Given the description of an element on the screen output the (x, y) to click on. 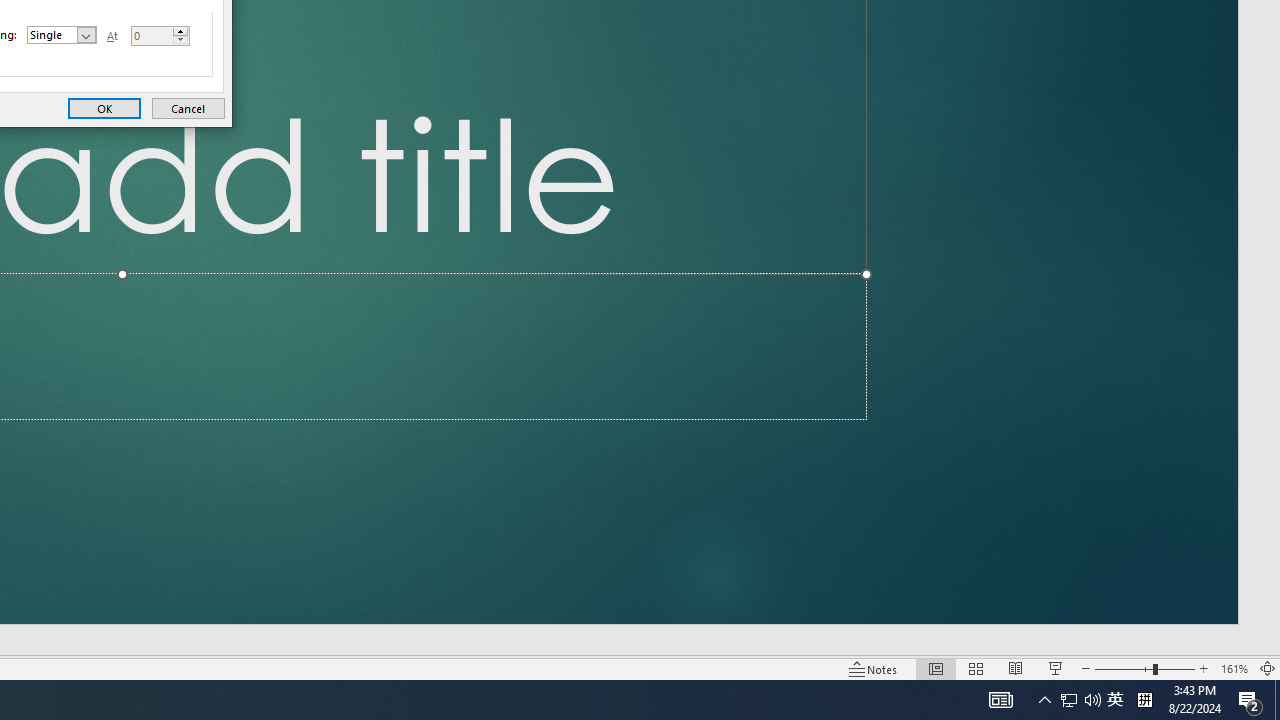
At (151, 35)
At (159, 35)
Zoom 161% (1234, 668)
